Given the description of an element on the screen output the (x, y) to click on. 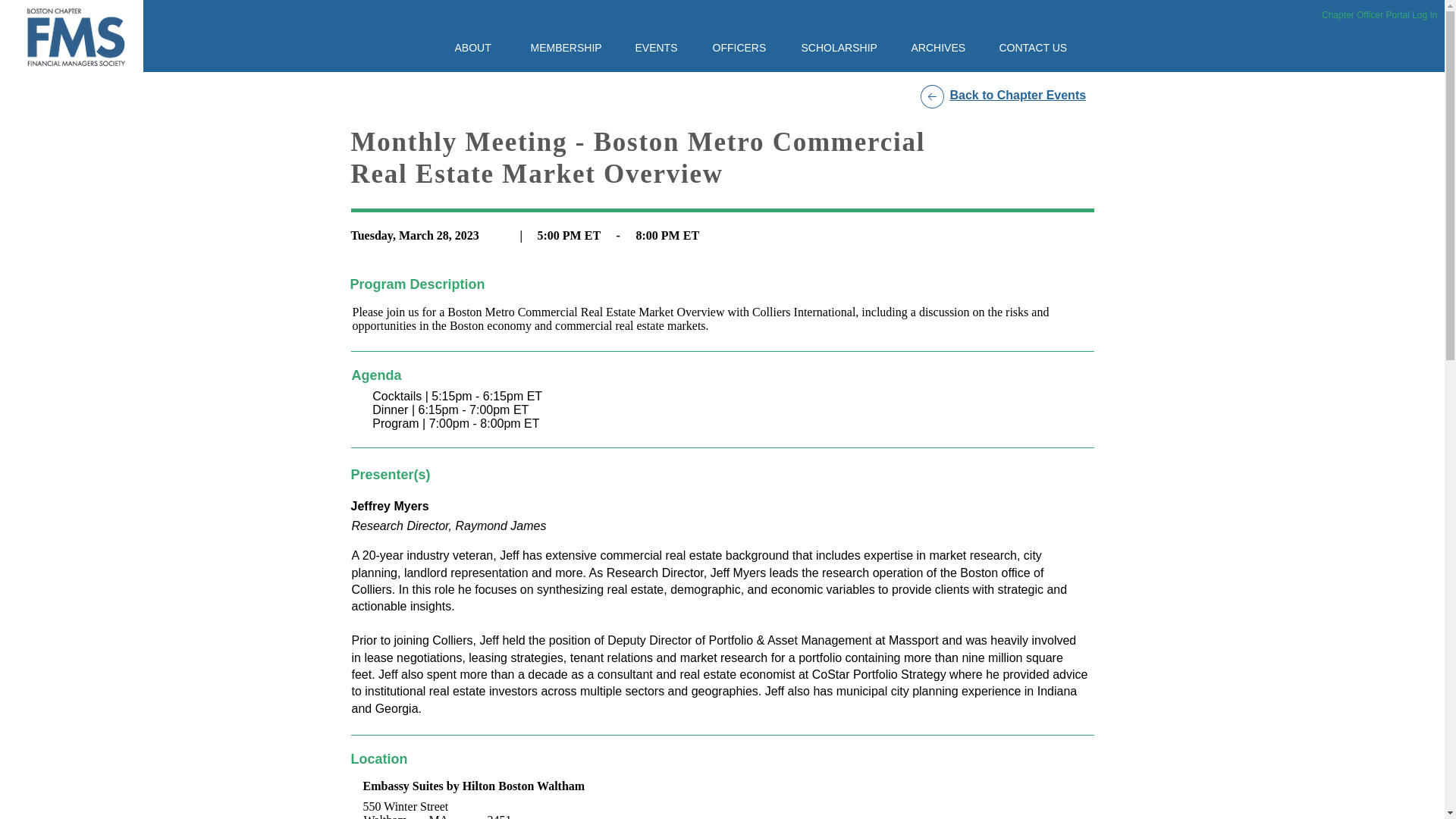
CONTACT US (1040, 47)
SCHOLARSHIP (844, 47)
Chapter Officer Portal Log In (1374, 15)
Back to Chapter Events (1017, 94)
